Given the description of an element on the screen output the (x, y) to click on. 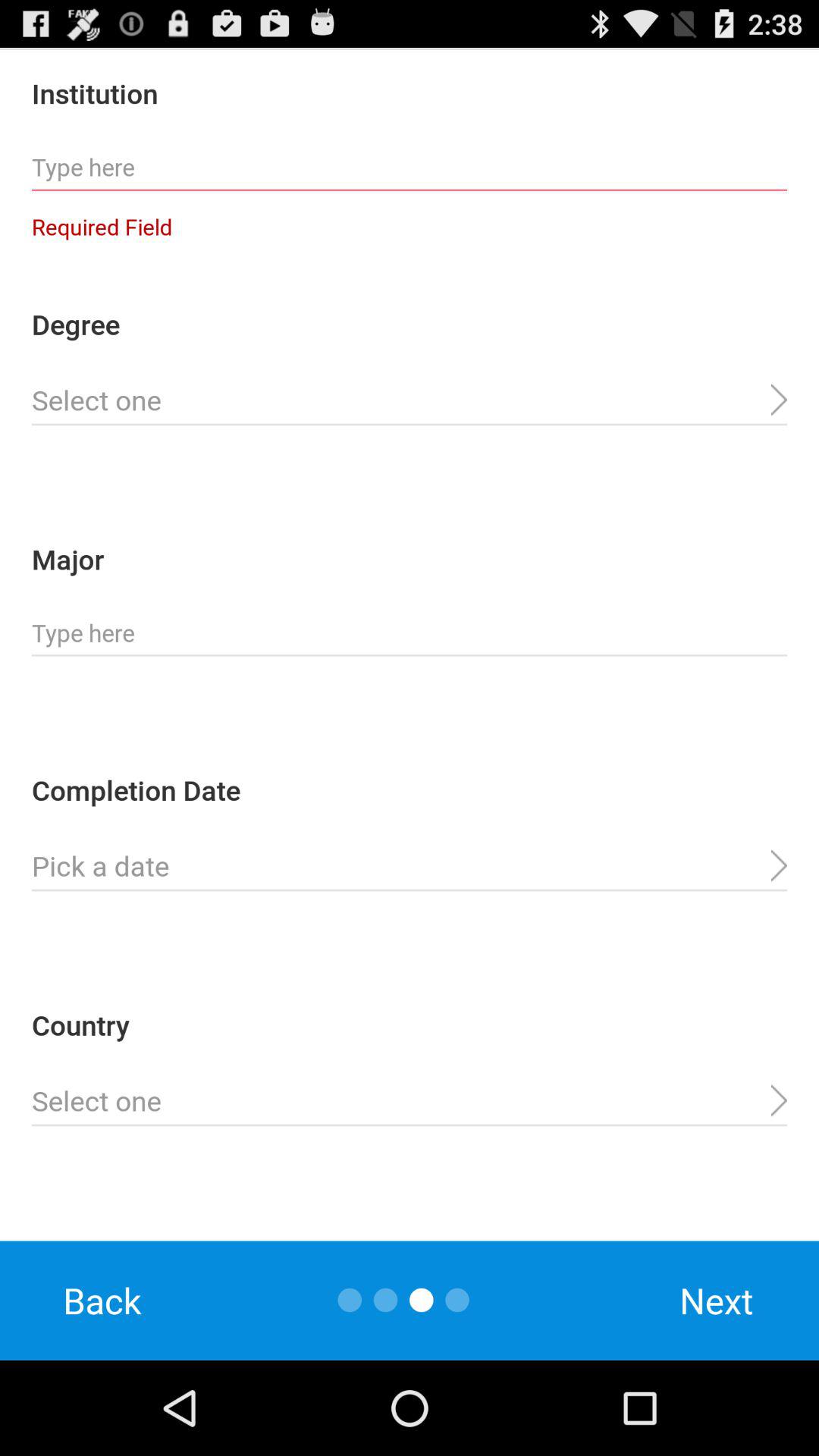
select date (409, 866)
